Given the description of an element on the screen output the (x, y) to click on. 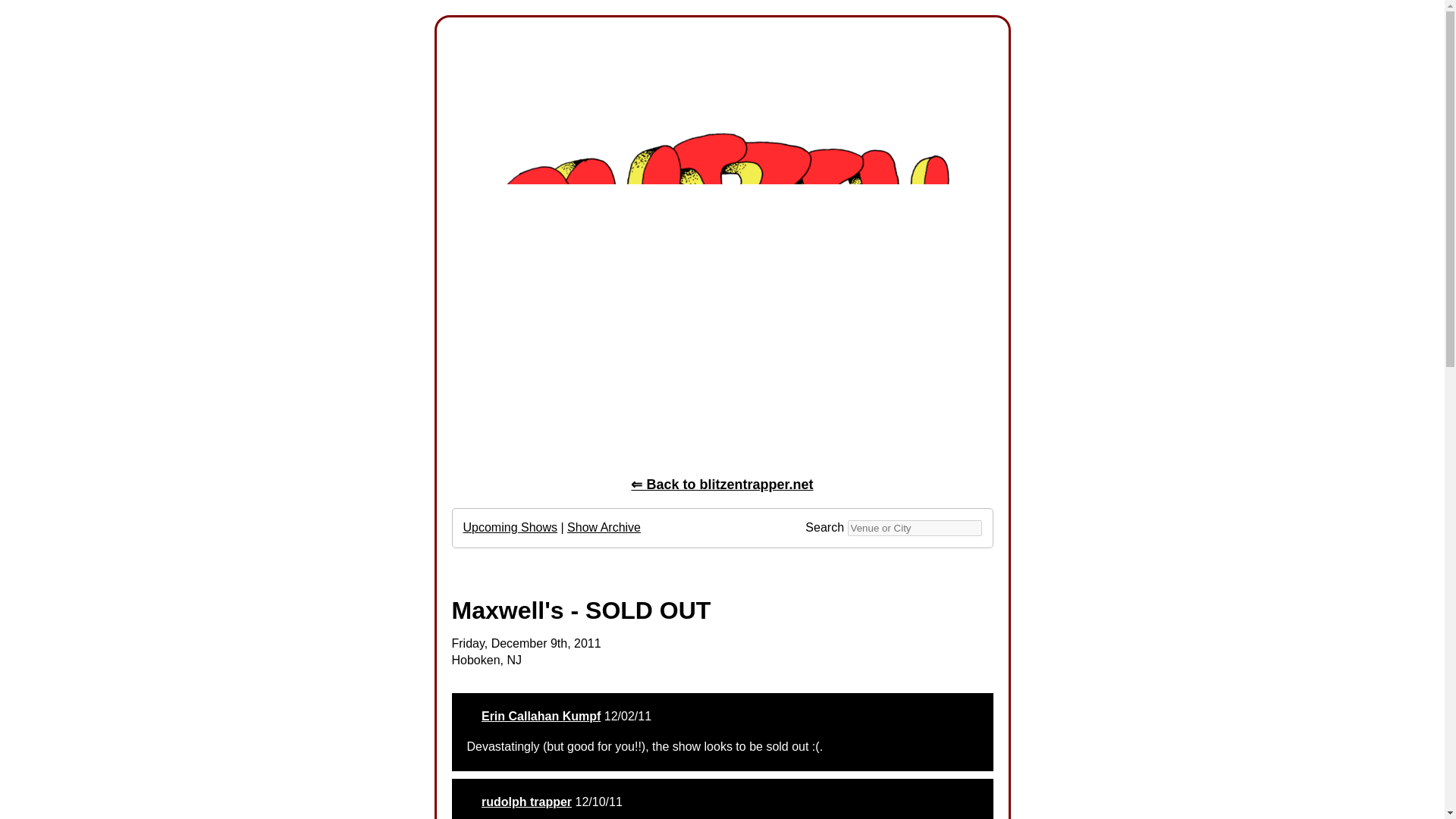
Upcoming Shows (510, 526)
rudolph trapper (526, 801)
Erin Callahan Kumpf (540, 716)
Show Archive (603, 526)
